Given the description of an element on the screen output the (x, y) to click on. 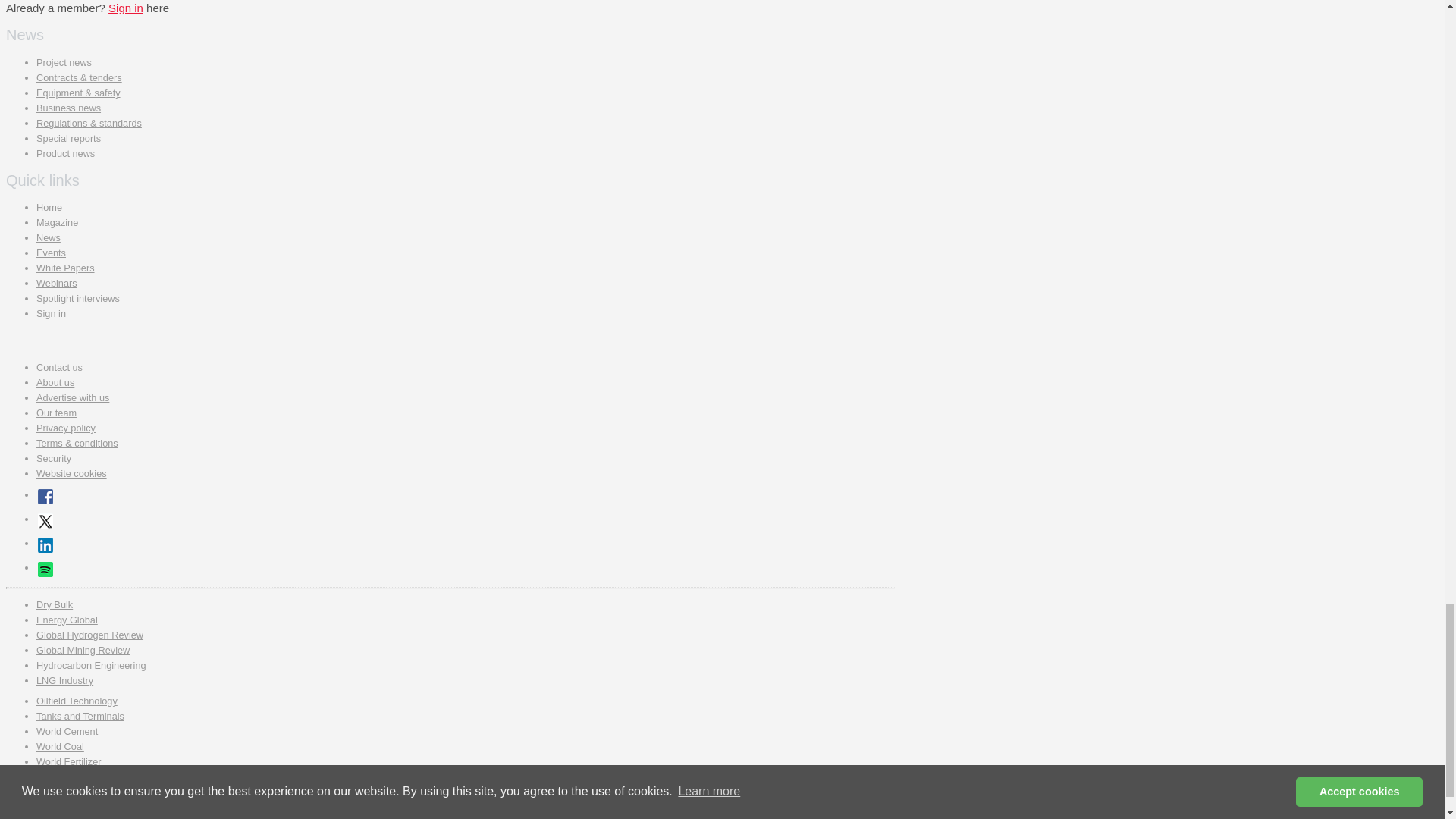
Sign in (124, 7)
